Given the description of an element on the screen output the (x, y) to click on. 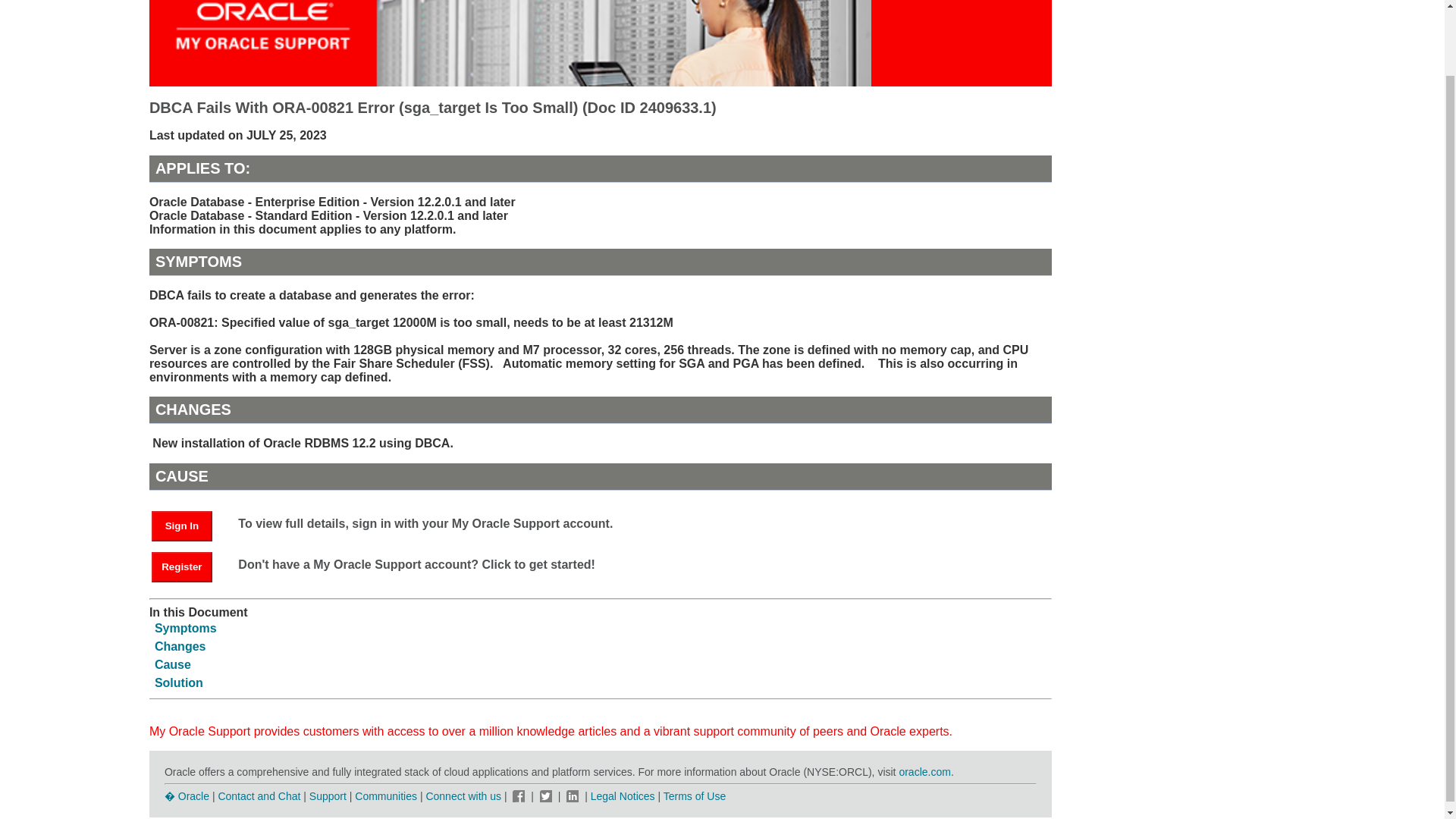
Communities (385, 796)
Cause (172, 664)
Support (327, 796)
oracle.com (924, 771)
Symptoms (185, 627)
Connect with us (464, 796)
Sign In (181, 526)
Legal Notices (623, 796)
Changes (180, 645)
Sign In (189, 524)
Terms of Use (694, 796)
Contact and Chat (257, 796)
Register (189, 565)
Solution (178, 682)
oracle.com (924, 771)
